Given the description of an element on the screen output the (x, y) to click on. 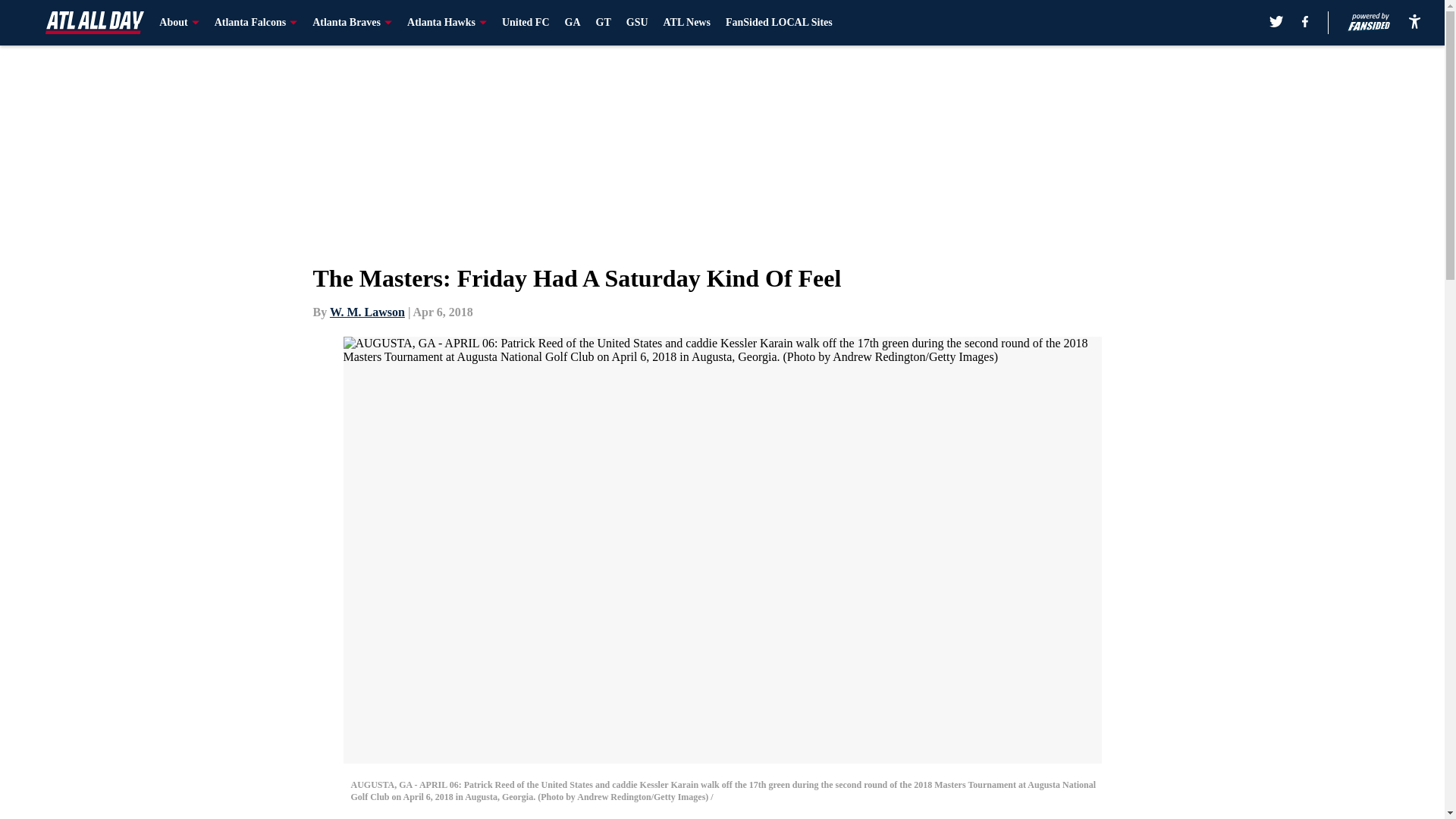
GSU (636, 22)
GA (572, 22)
GT (603, 22)
W. M. Lawson (367, 311)
FanSided LOCAL Sites (778, 22)
ATL News (686, 22)
United FC (526, 22)
